Given the description of an element on the screen output the (x, y) to click on. 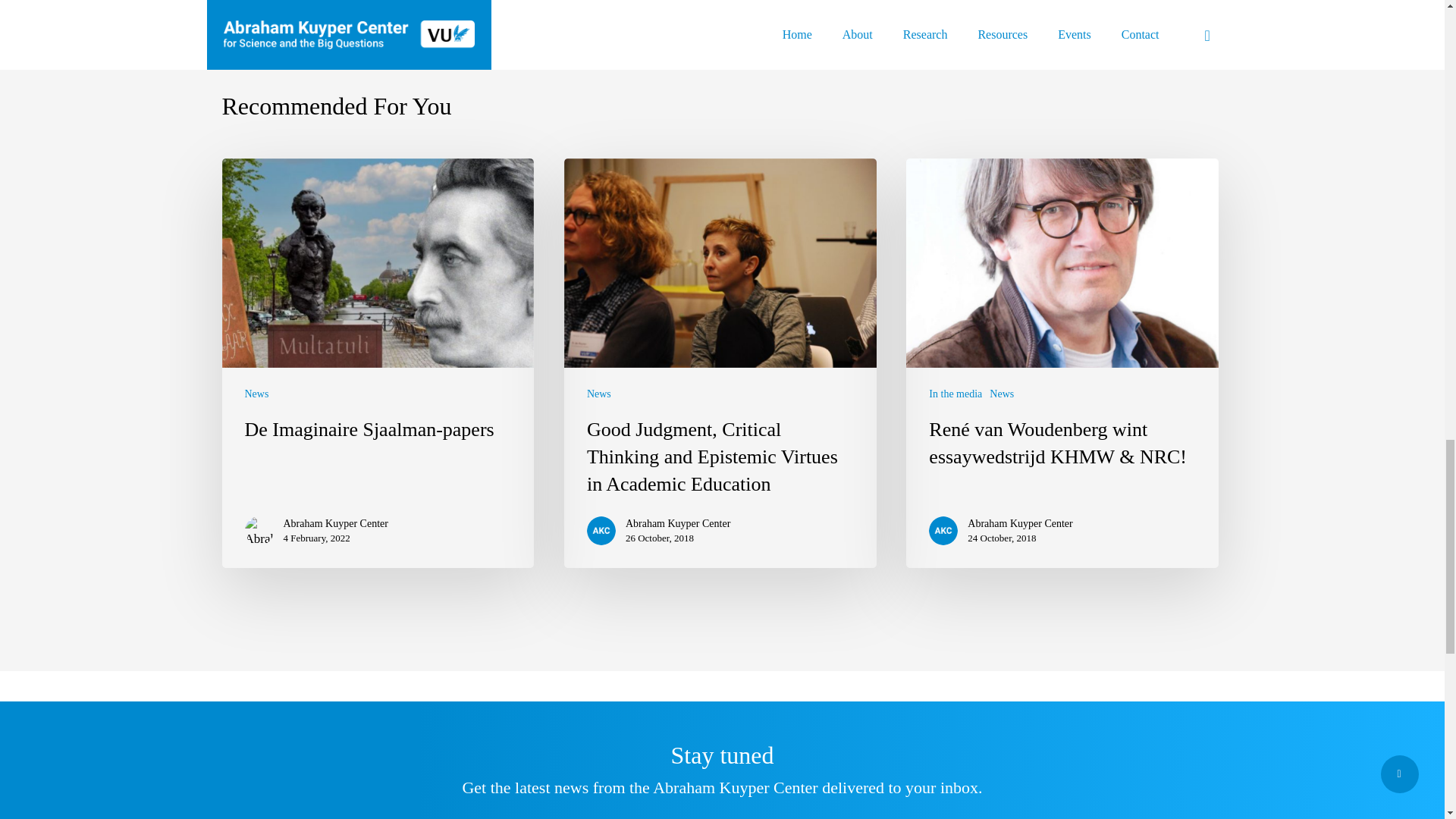
News (1001, 393)
Abraham Kuyper Center (1019, 523)
Abraham Kuyper Center (335, 523)
News (255, 393)
In the media (954, 393)
News (598, 393)
Abraham Kuyper Center (678, 523)
